Given the description of an element on the screen output the (x, y) to click on. 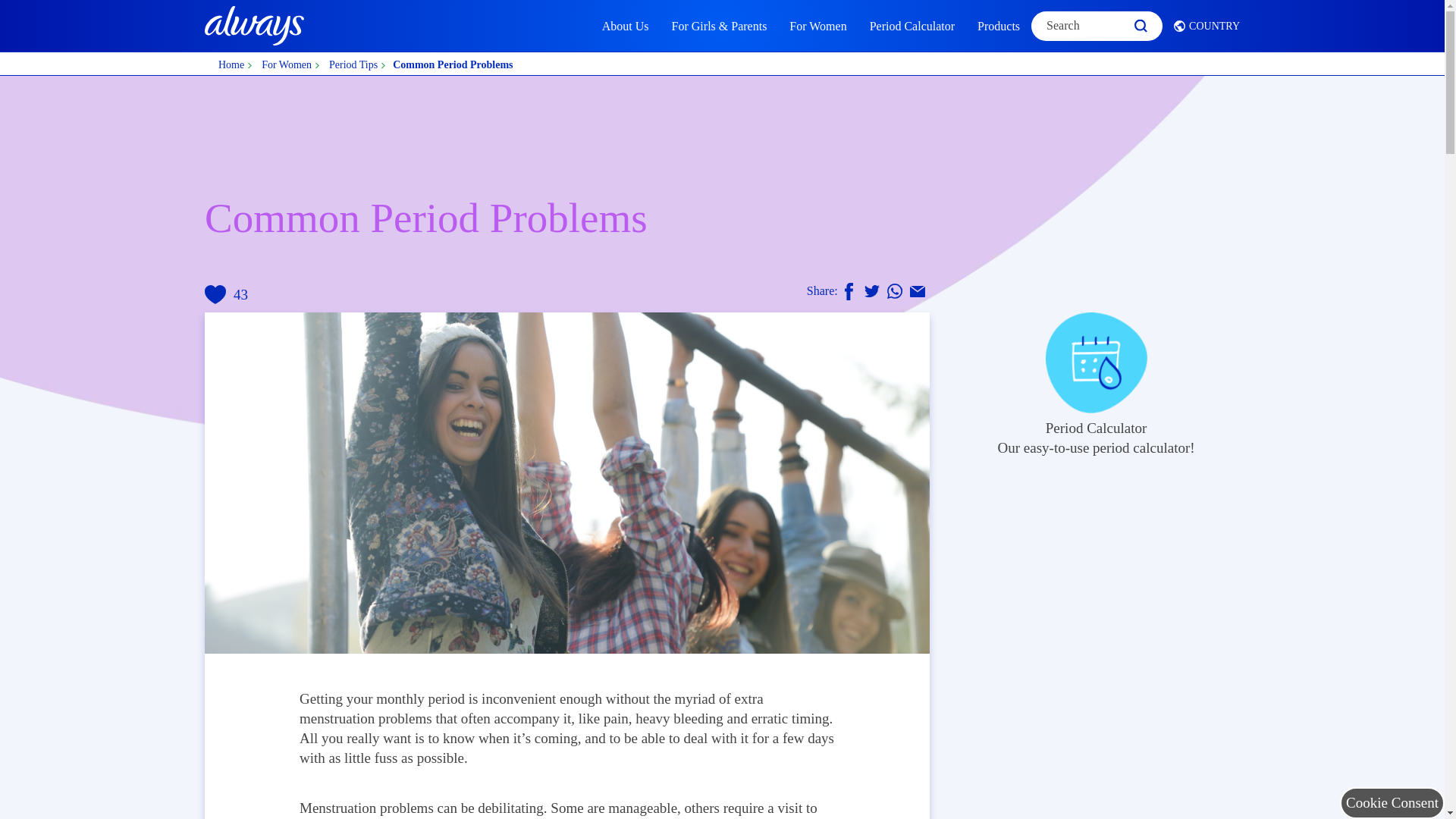
About Us (626, 26)
Common Period Problems (452, 64)
For Women (288, 64)
For Women (288, 64)
Products (998, 26)
Period Calculator (912, 26)
Common Period Problems (452, 64)
Home (233, 64)
Home (233, 64)
Period Tips (355, 64)
COUNTRY (1200, 25)
For Women (817, 26)
43 (1081, 384)
Period Tips (226, 294)
